Given the description of an element on the screen output the (x, y) to click on. 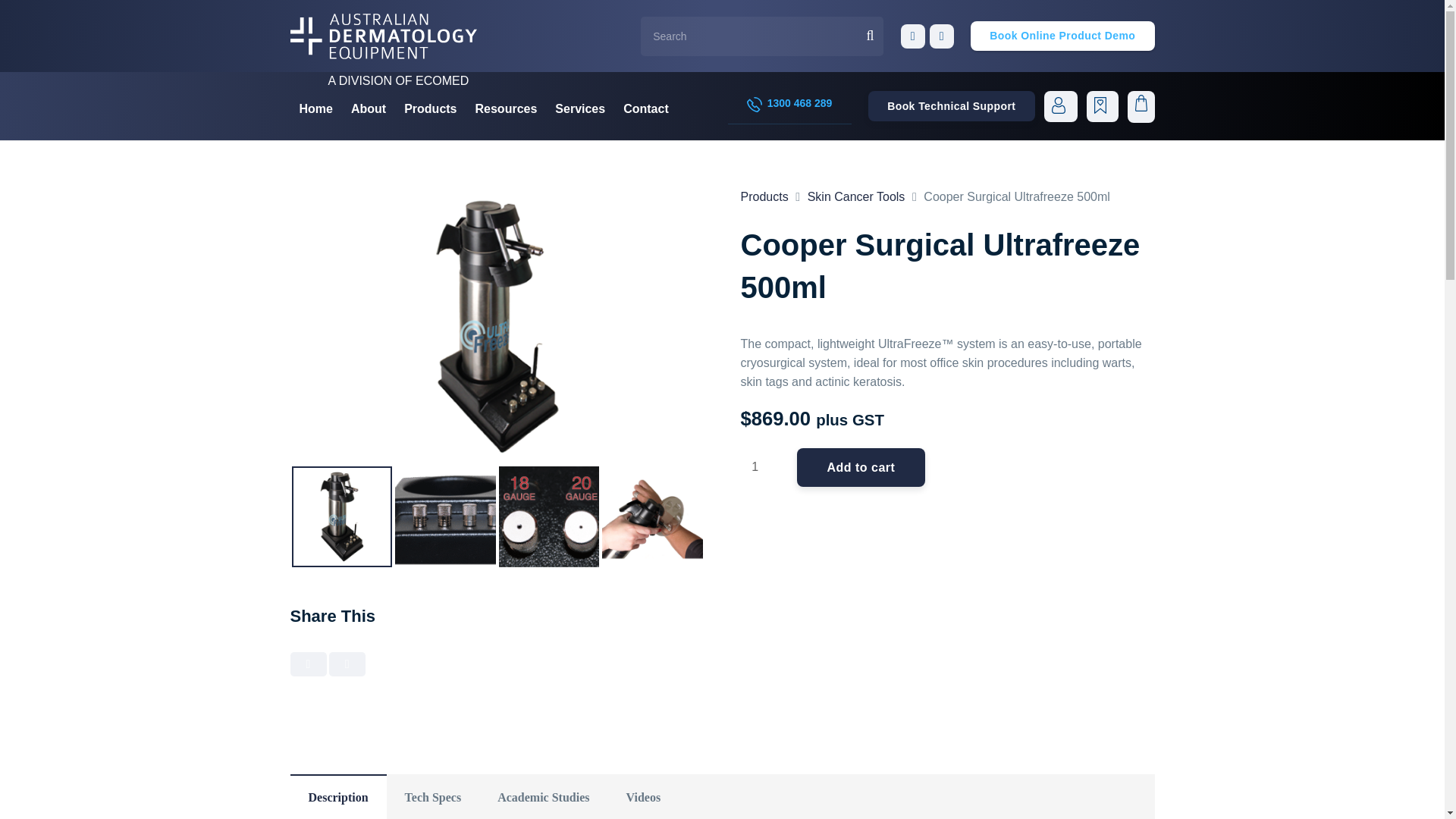
Book Technical Support (951, 105)
Email this (307, 663)
Book Online Product Demo (1062, 35)
Contact (646, 108)
Academic Studies (543, 796)
Home (314, 108)
1300 468 289 (789, 105)
Products (429, 108)
Share this (347, 663)
YouTube (912, 36)
